Given the description of an element on the screen output the (x, y) to click on. 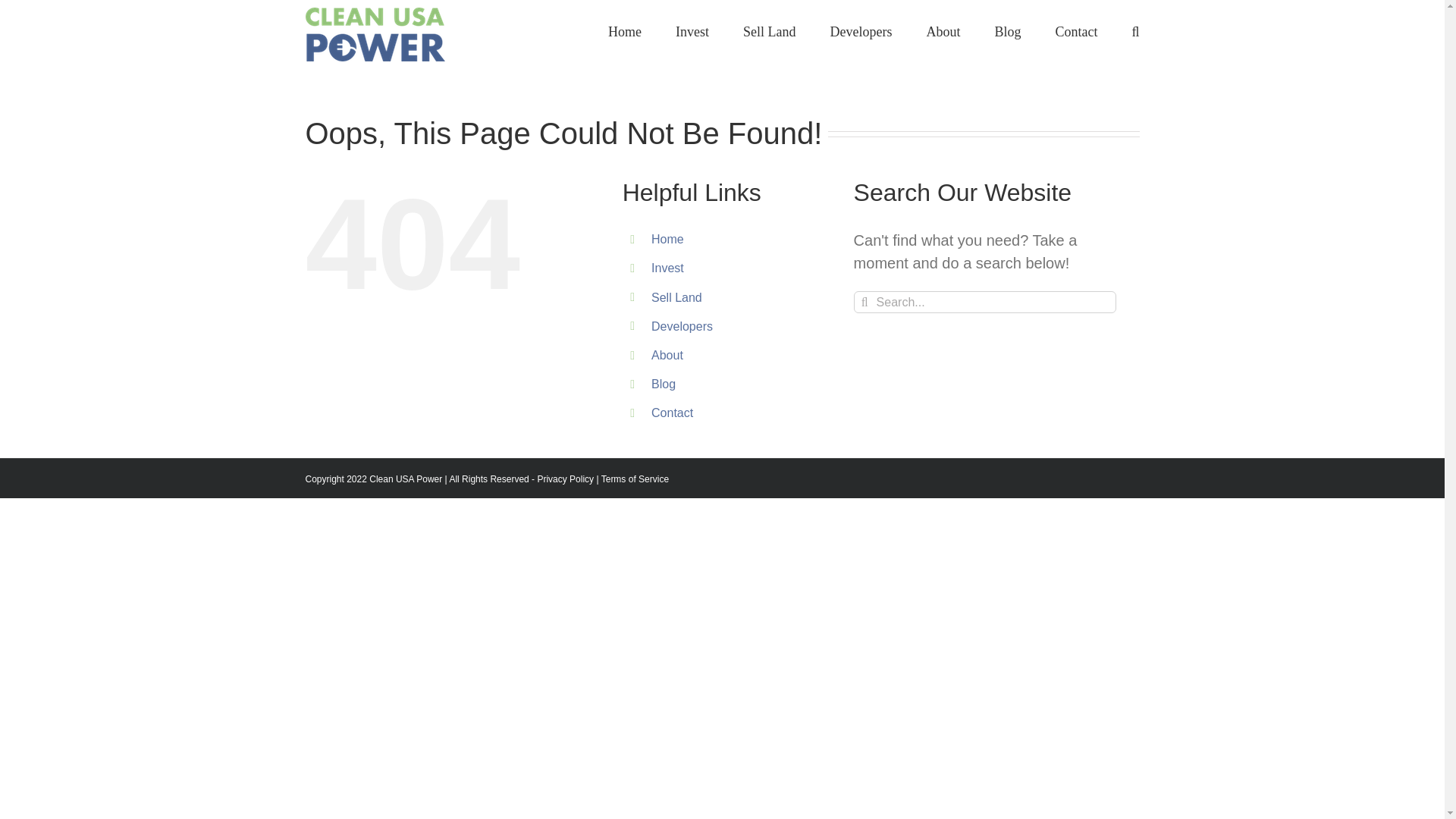
About (666, 354)
Terms of Service (634, 479)
Blog (662, 383)
Privacy Policy (565, 479)
Home (667, 238)
Sell Land (675, 297)
Developers (681, 326)
Invest (667, 267)
Developers (860, 30)
Contact (671, 412)
